Given the description of an element on the screen output the (x, y) to click on. 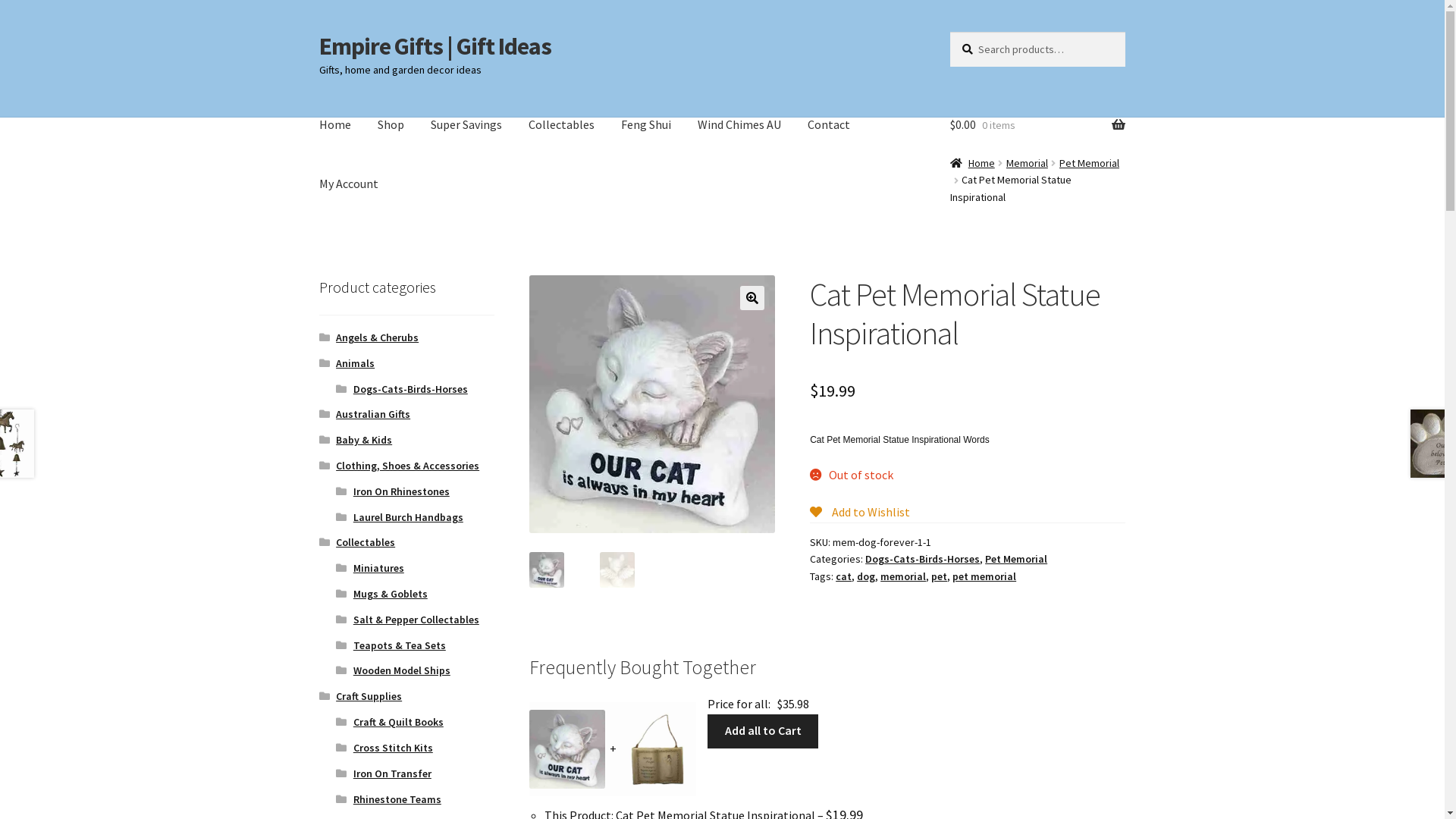
Feng Shui Element type: text (645, 124)
Memorial Element type: text (1027, 162)
pet memorial Element type: text (984, 576)
Laurel Burch Handbags Element type: text (408, 517)
Mugs & Goblets Element type: text (390, 593)
pet Element type: text (939, 576)
Wind Chimes AU Element type: text (739, 124)
Collectables Element type: text (365, 542)
Rhinestone Teams Element type: text (397, 799)
Angels & Cherubs Element type: text (376, 337)
Iron On Transfer Element type: text (392, 773)
Collectables Element type: text (561, 124)
Skip to navigation Element type: text (318, 31)
Add to Wishlist Element type: text (859, 511)
Dogs-Cats-Birds-Horses Element type: text (922, 558)
Cross Stitch Kits Element type: text (393, 747)
Shop Element type: text (390, 124)
Craft & Quilt Books Element type: text (398, 721)
$0.00 0 items Element type: text (1037, 124)
Search Element type: text (949, 31)
Australian Gifts Element type: text (372, 413)
Iron On Rhinestones Element type: text (401, 491)
My Account Element type: text (348, 183)
Clothing, Shoes & Accessories Element type: text (407, 465)
cat Element type: text (843, 576)
Baby & Kids Element type: text (363, 439)
Empire Gifts | Gift Ideas Element type: text (435, 46)
Animals Element type: text (354, 363)
Home Element type: text (335, 124)
Miniatures Element type: text (378, 567)
Contact Element type: text (828, 124)
Salt & Pepper Collectables Element type: text (416, 619)
Add all to Cart Element type: text (762, 731)
Dogs-Cats-Birds-Horses Element type: text (410, 388)
Teapots & Tea Sets Element type: text (399, 645)
Wooden Model Ships Element type: text (401, 670)
Pet Memorial Element type: text (1089, 162)
Pet Memorial Element type: text (1016, 558)
Super Savings Element type: text (466, 124)
Home Element type: text (972, 162)
dog Element type: text (865, 576)
memorial Element type: text (902, 576)
Craft Supplies Element type: text (368, 695)
